Given the description of an element on the screen output the (x, y) to click on. 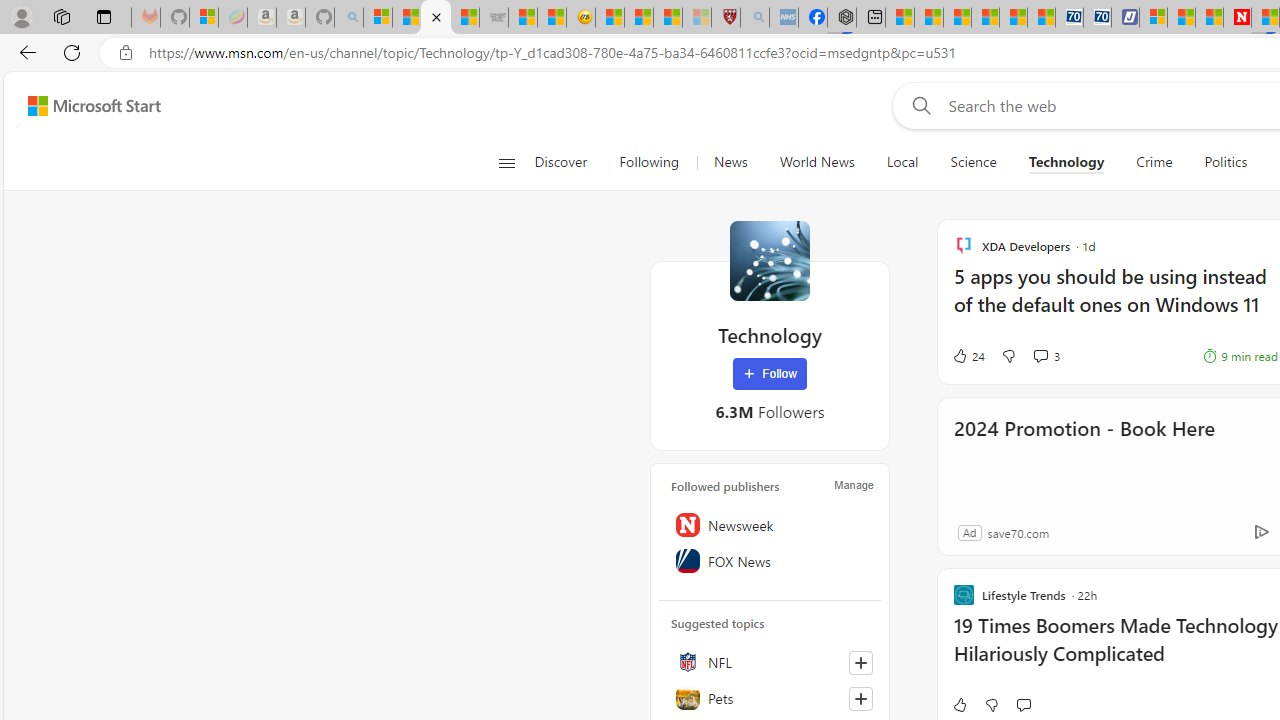
save70.com (1017, 532)
12 Popular Science Lies that Must be Corrected - Sleeping (696, 17)
Like (959, 704)
View comments 3 Comment (1040, 355)
FOX News (770, 561)
